Given the description of an element on the screen output the (x, y) to click on. 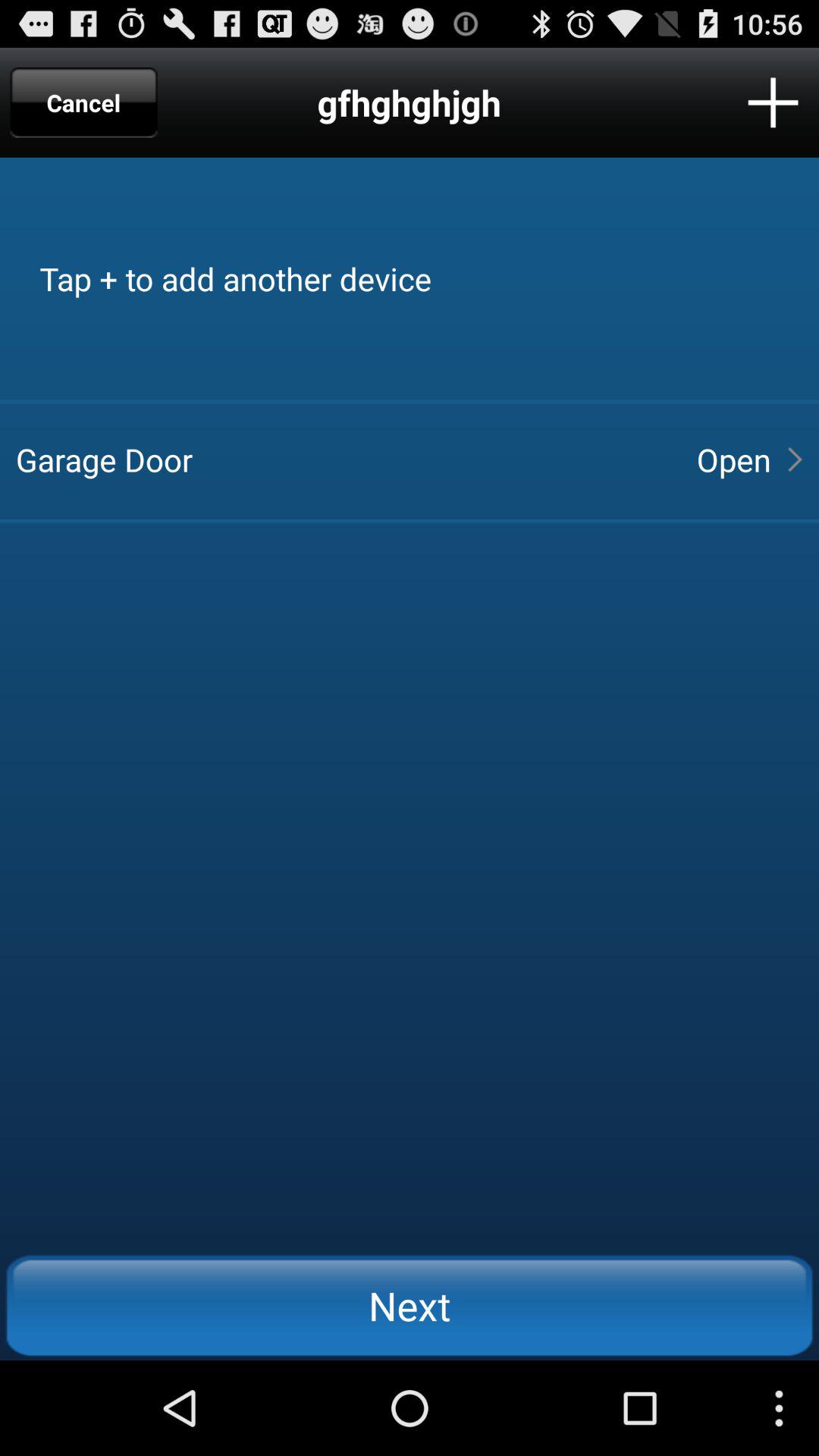
launch the garage door app (342, 459)
